Given the description of an element on the screen output the (x, y) to click on. 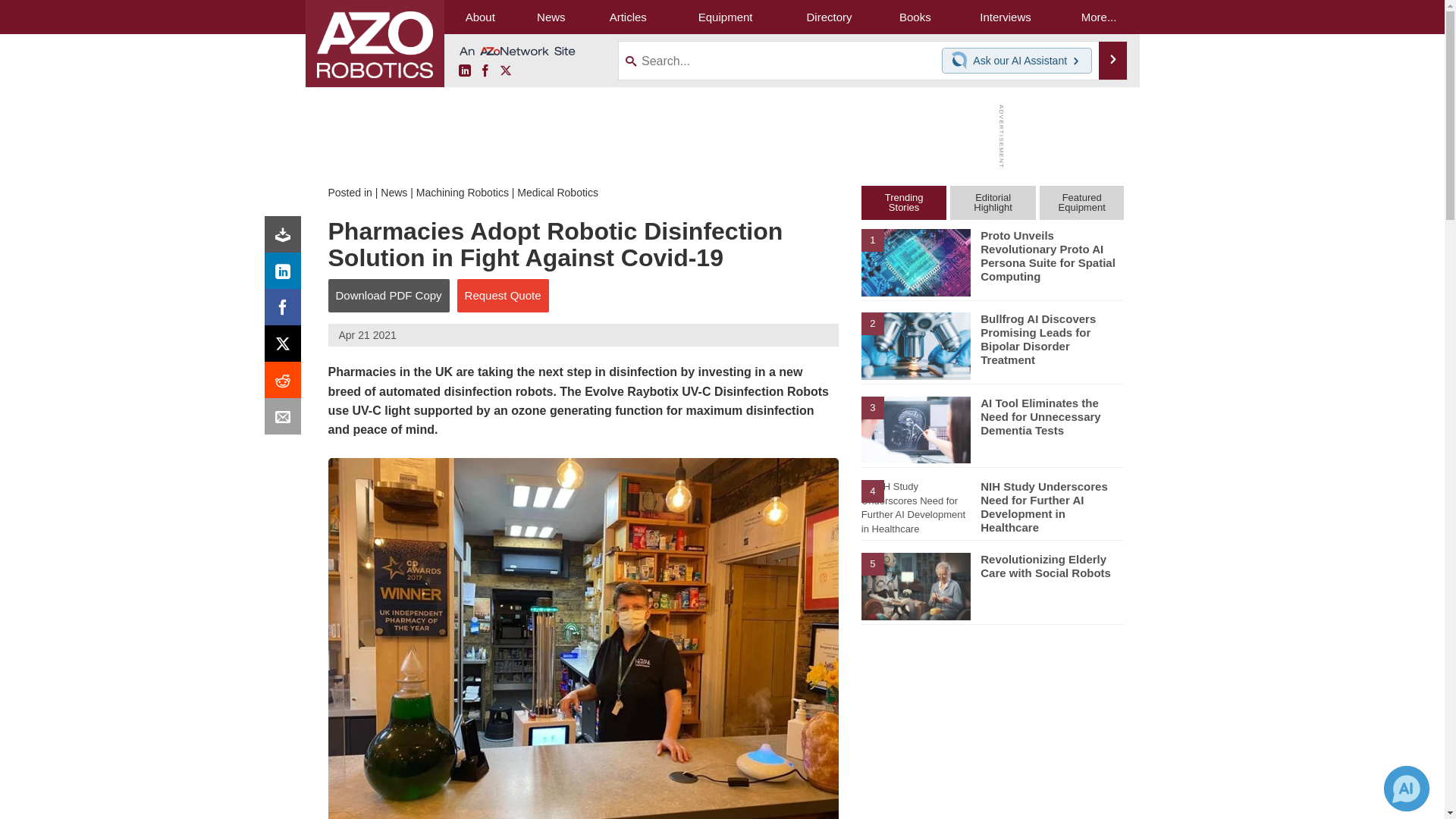
X (505, 71)
LinkedIn (285, 275)
Reddit (285, 384)
Directory (828, 17)
X (285, 348)
Articles (627, 17)
Chat with our AI Assistant Ask our AI Assistant (1017, 60)
Download PDF copy (285, 238)
Facebook (285, 311)
News (393, 192)
Medical Robotics (557, 192)
More... (1099, 17)
Books (914, 17)
Facebook (485, 71)
Machining Robotics (462, 192)
